Given the description of an element on the screen output the (x, y) to click on. 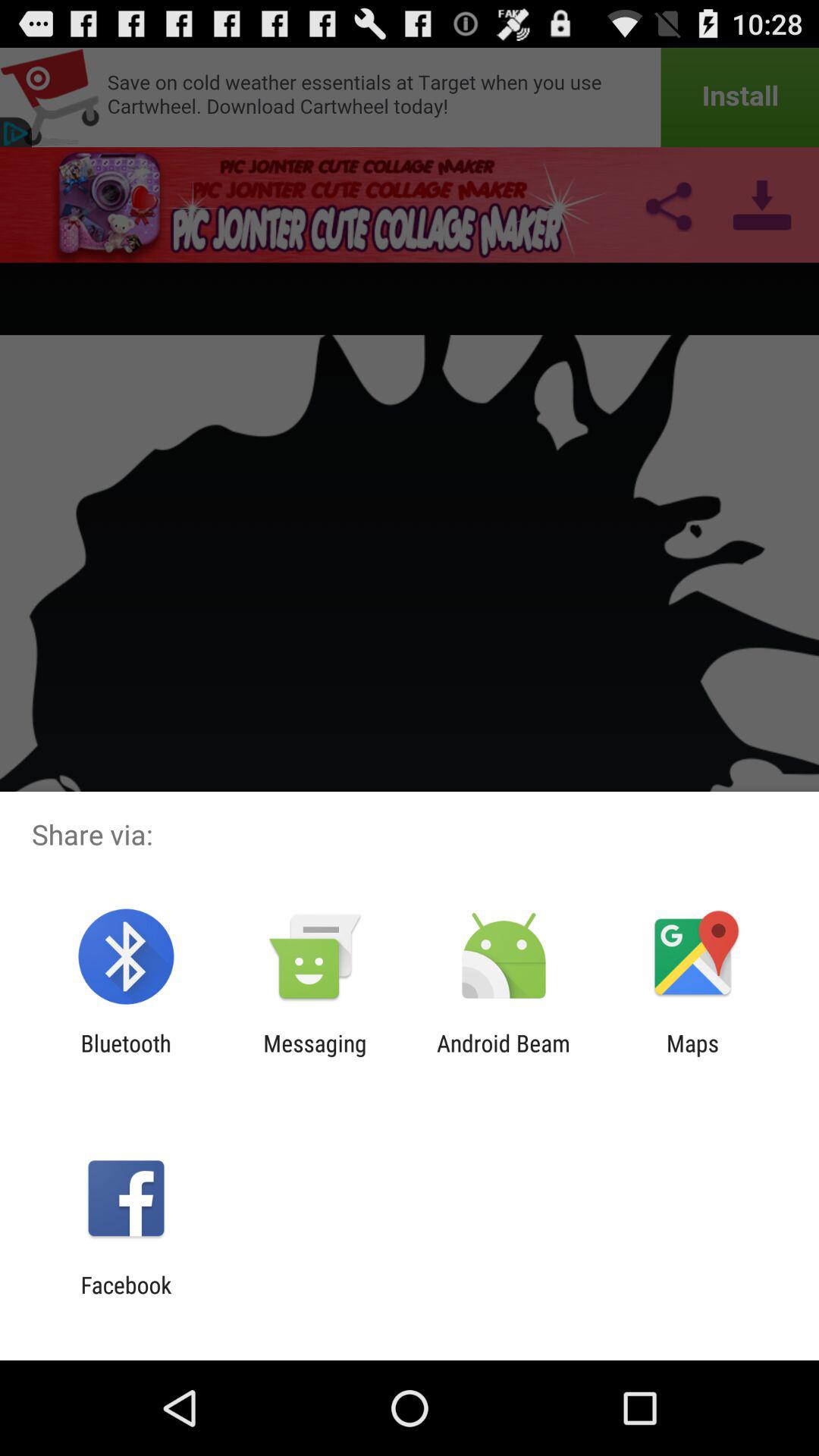
jump to maps icon (692, 1056)
